Given the description of an element on the screen output the (x, y) to click on. 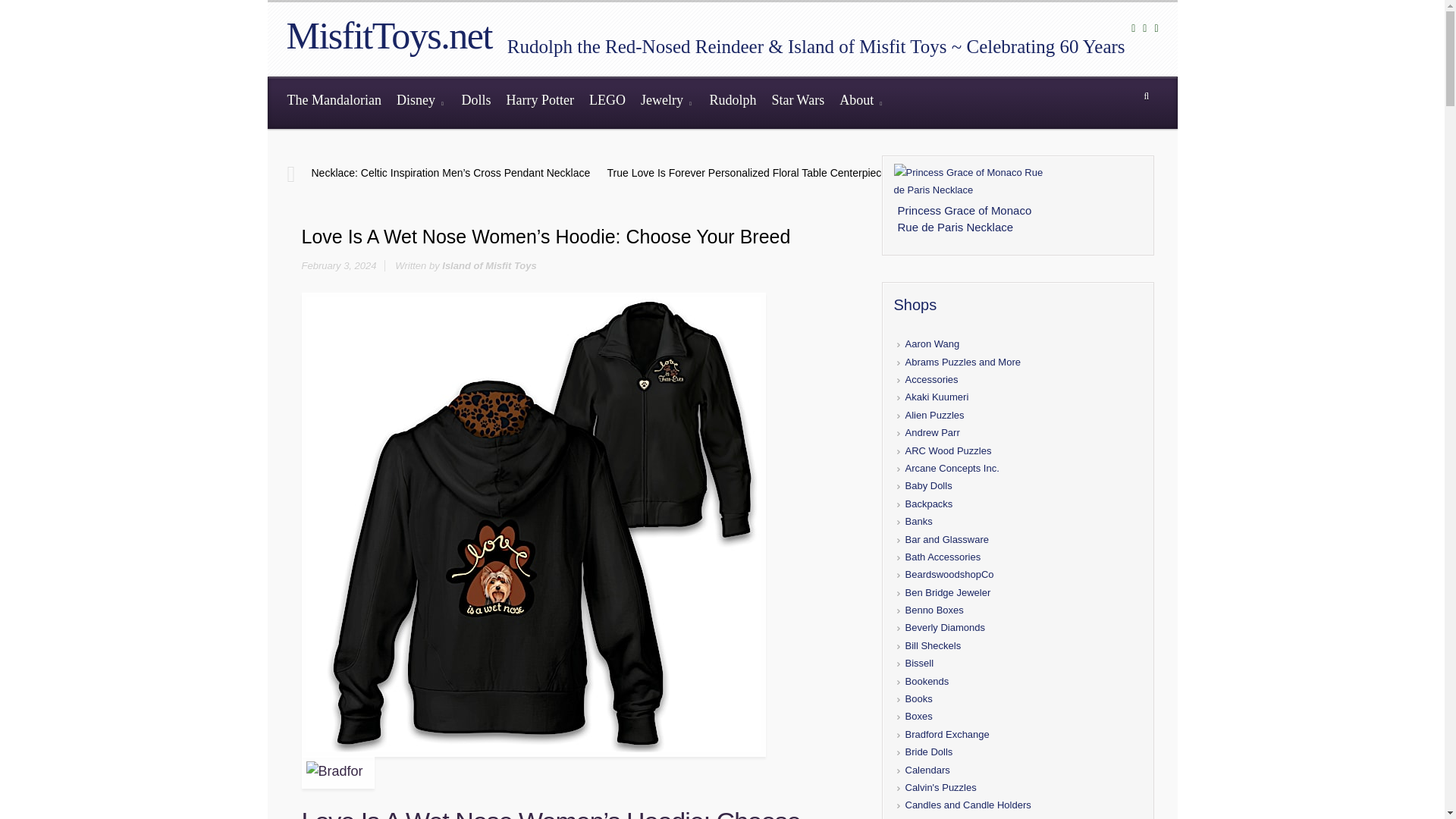
Disney (421, 101)
Rudolph (731, 101)
Disney (421, 101)
LEGO (606, 101)
View all posts by Island of Misfit Toys (488, 265)
About (861, 101)
MisfitToys.net (389, 35)
Harry Potter (538, 101)
Harry Potter (538, 101)
Jewelry (667, 101)
